Given the description of an element on the screen output the (x, y) to click on. 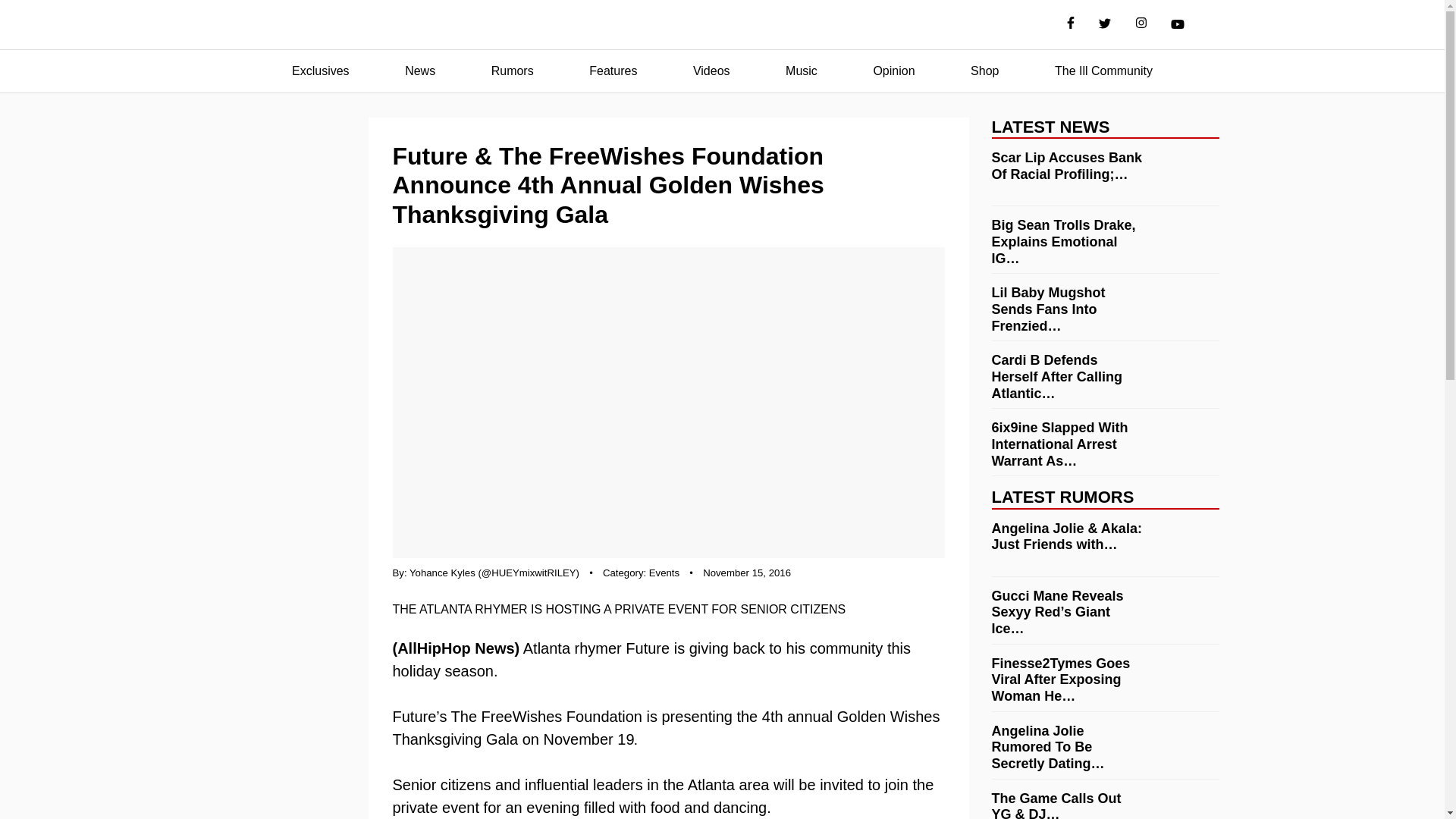
Features (612, 70)
Music (801, 70)
Rumors (512, 70)
Videos (711, 70)
Events (664, 572)
Exclusives (320, 70)
Opinion (893, 70)
AllHipHop (722, 25)
The Ill Community (1103, 70)
News (419, 70)
